Given the description of an element on the screen output the (x, y) to click on. 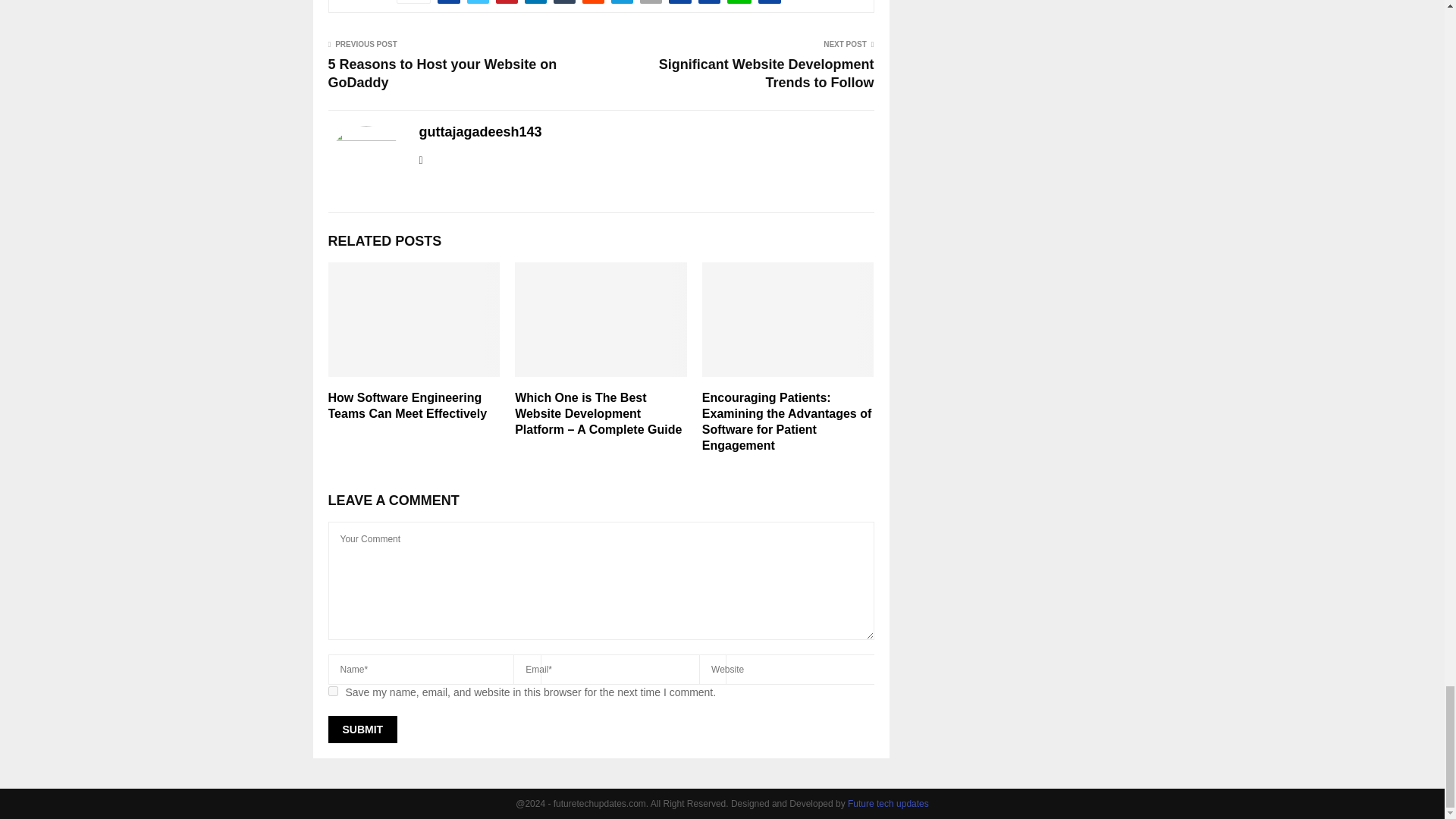
Submit (362, 728)
yes (332, 691)
